Given the description of an element on the screen output the (x, y) to click on. 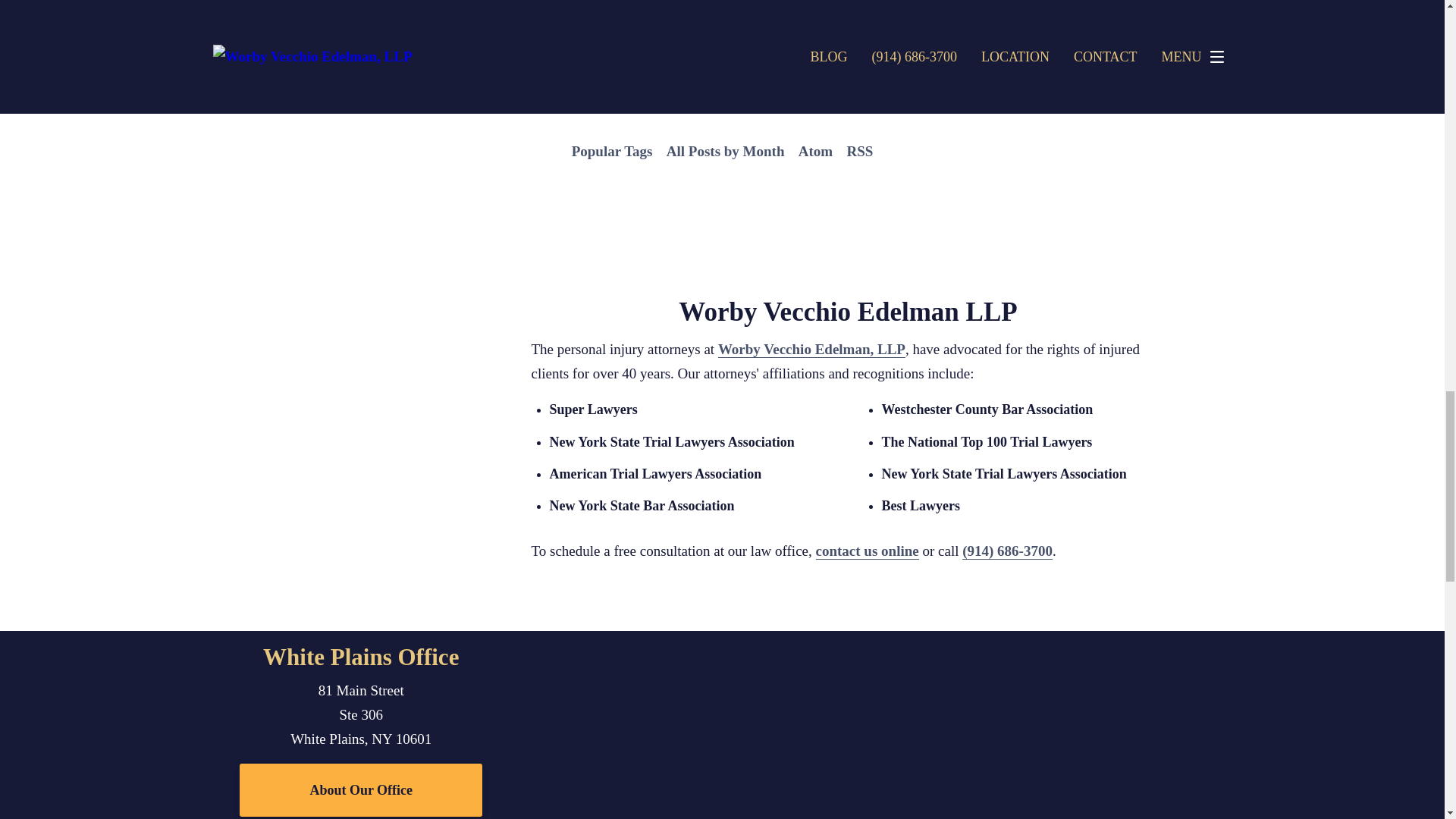
Atom (816, 151)
Popular Tags (611, 151)
contact us online (866, 550)
Personal Injury (497, 90)
RSS (859, 151)
Locations (989, 642)
Worby Vecchio Edelman, LLP (811, 349)
All Blog Posts (491, 57)
All Posts by Month (725, 151)
About Our Office (360, 789)
Wrongful Death (805, 57)
White Plains Office (360, 656)
